Given the description of an element on the screen output the (x, y) to click on. 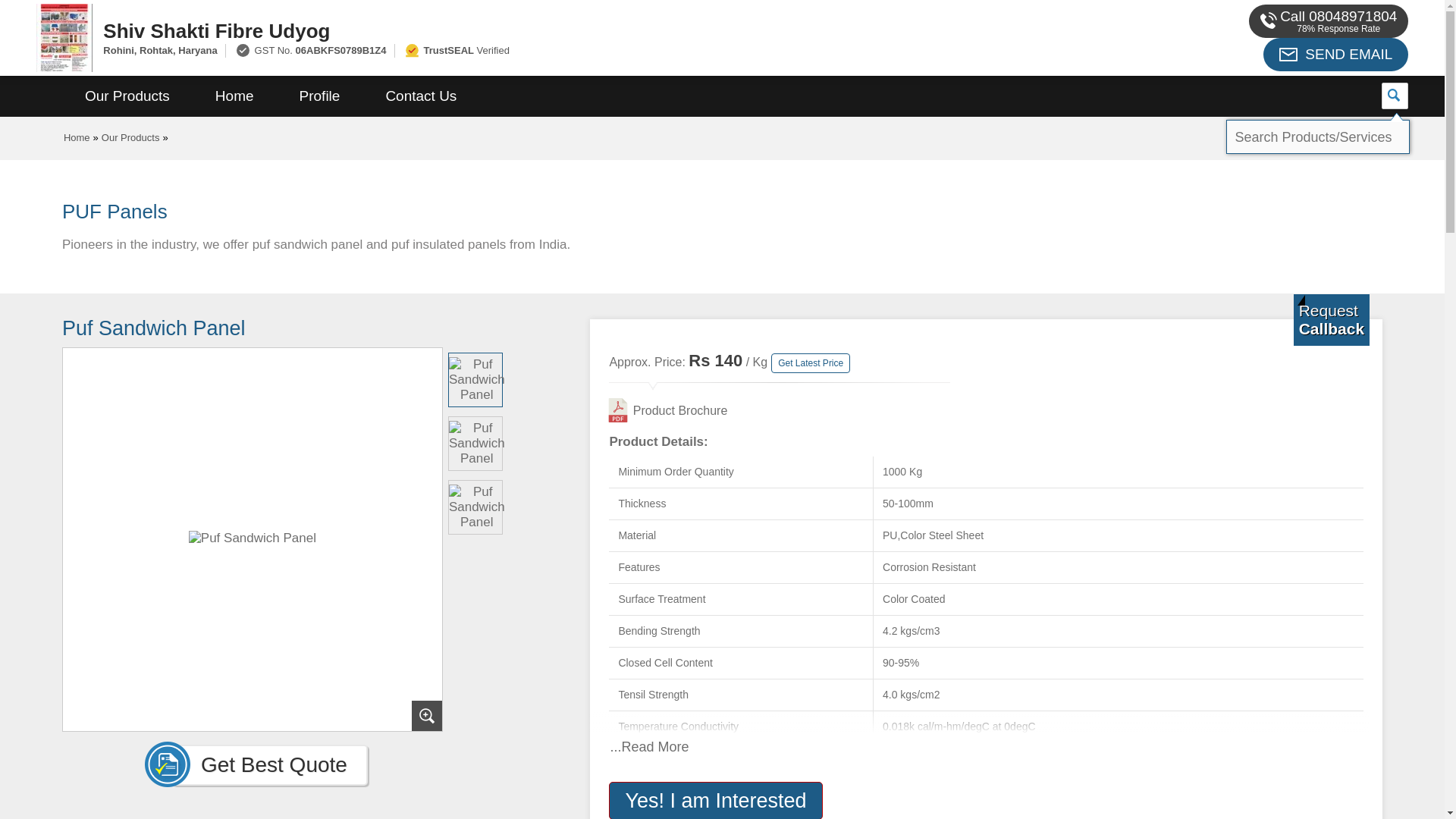
Shiv Shakti Fibre Udyog (540, 31)
Our Products (130, 137)
Profile (319, 96)
Our Products (127, 96)
Home (77, 137)
Get a Call from us (1332, 319)
Home (234, 96)
Contact Us (420, 96)
